Given the description of an element on the screen output the (x, y) to click on. 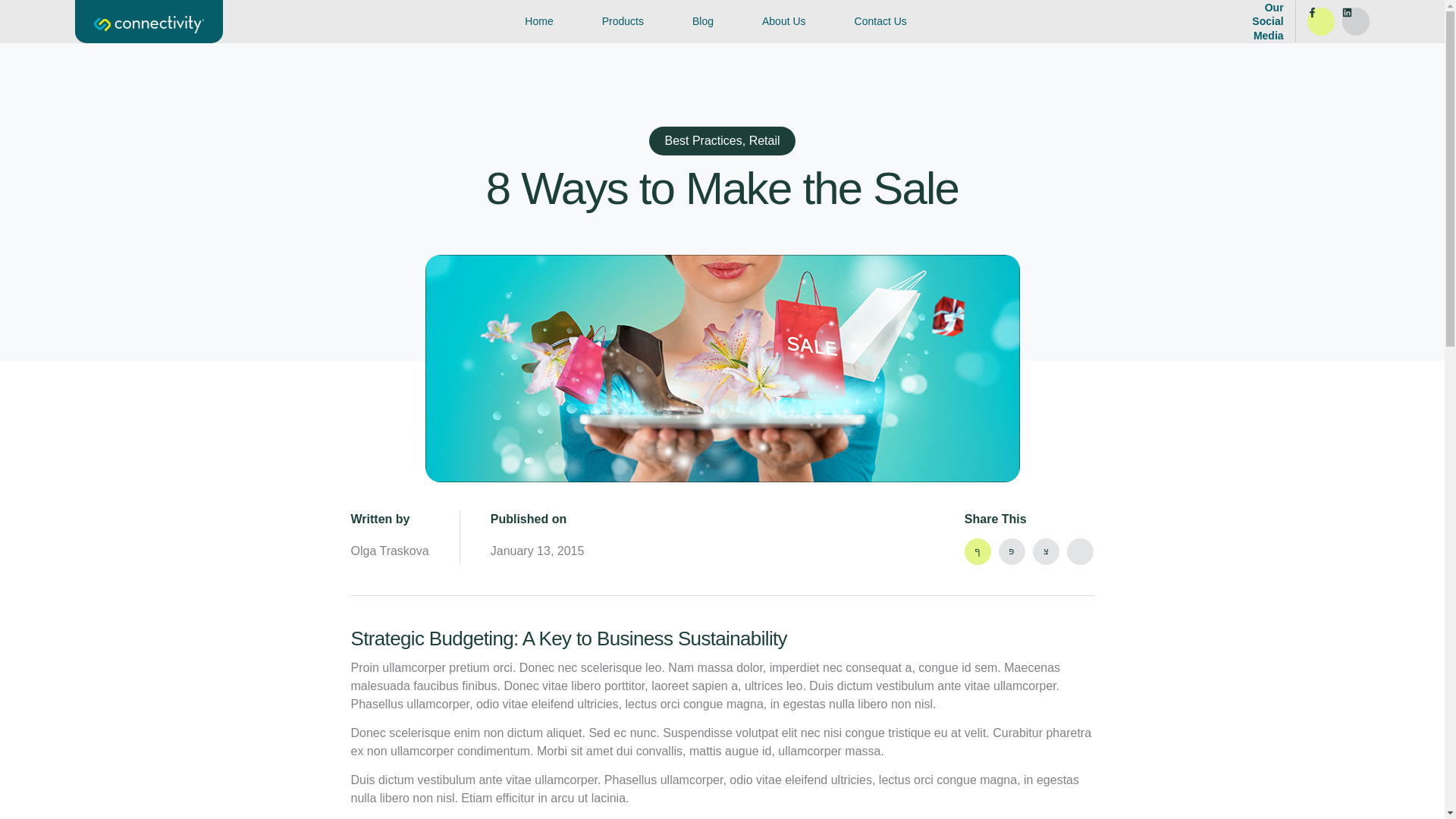
Contact Us (880, 21)
Home (538, 21)
Blog (702, 21)
Products (622, 21)
About Us (783, 21)
